Given the description of an element on the screen output the (x, y) to click on. 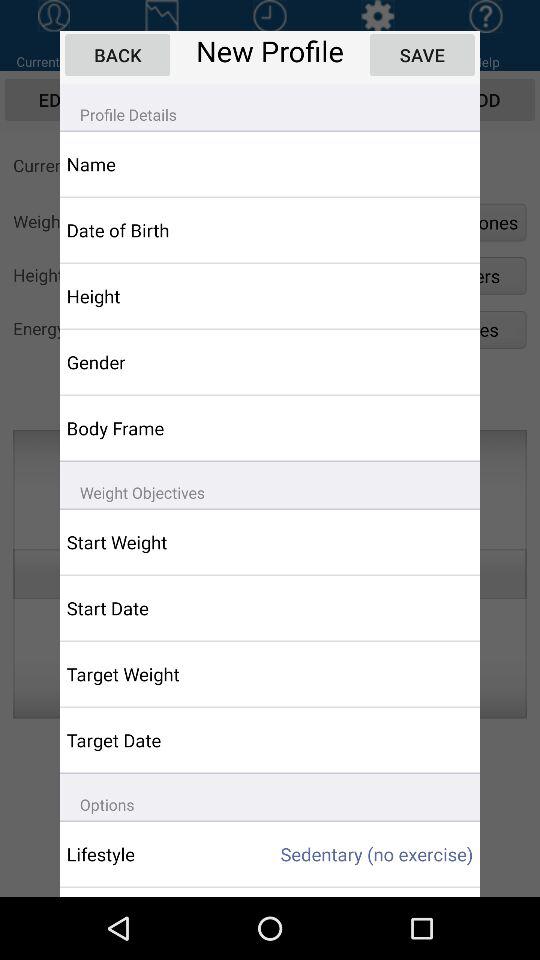
turn off the item below date of birth item (156, 295)
